Given the description of an element on the screen output the (x, y) to click on. 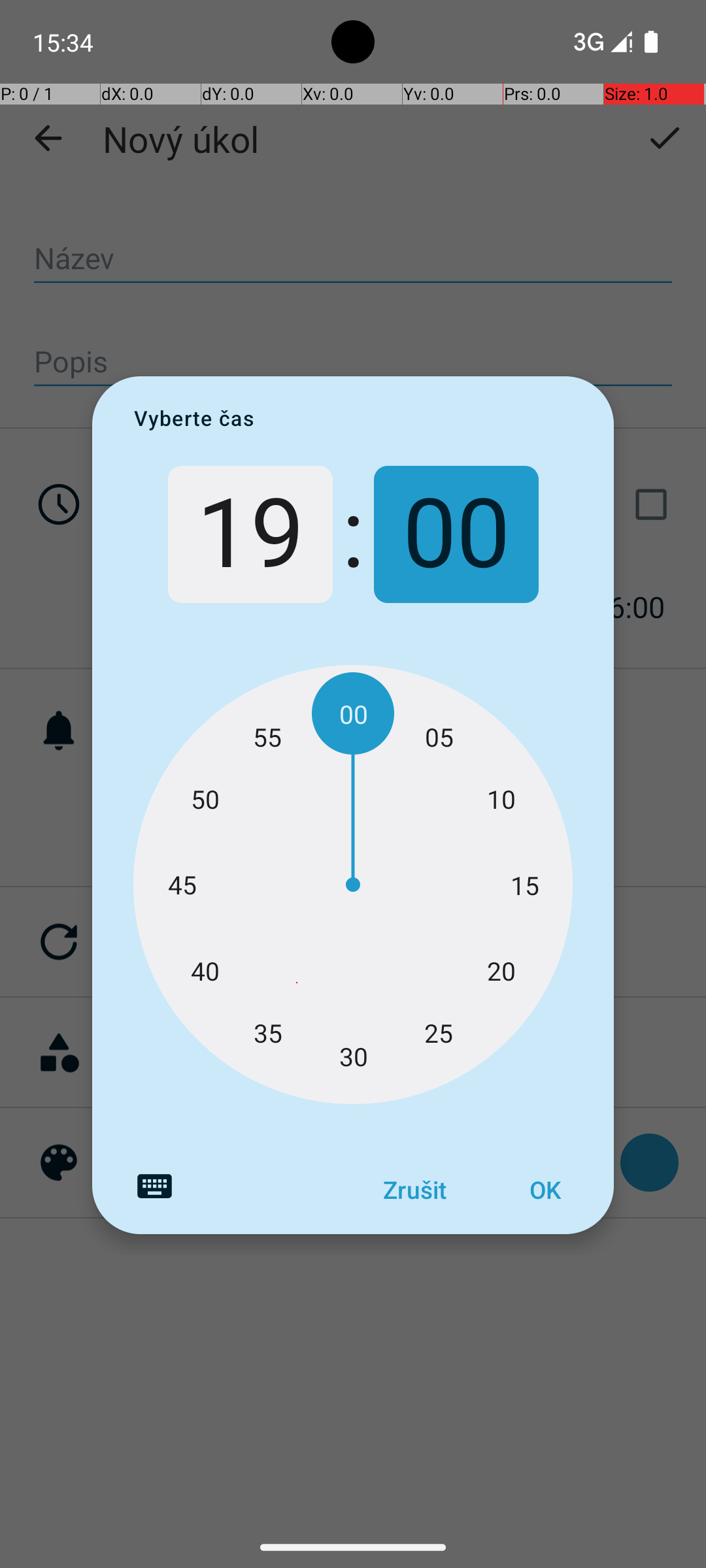
Chcete-li zadat čas, přepněte na režim textu. Element type: android.widget.Button (154, 1186)
Zrušit Element type: android.widget.Button (414, 1189)
